Given the description of an element on the screen output the (x, y) to click on. 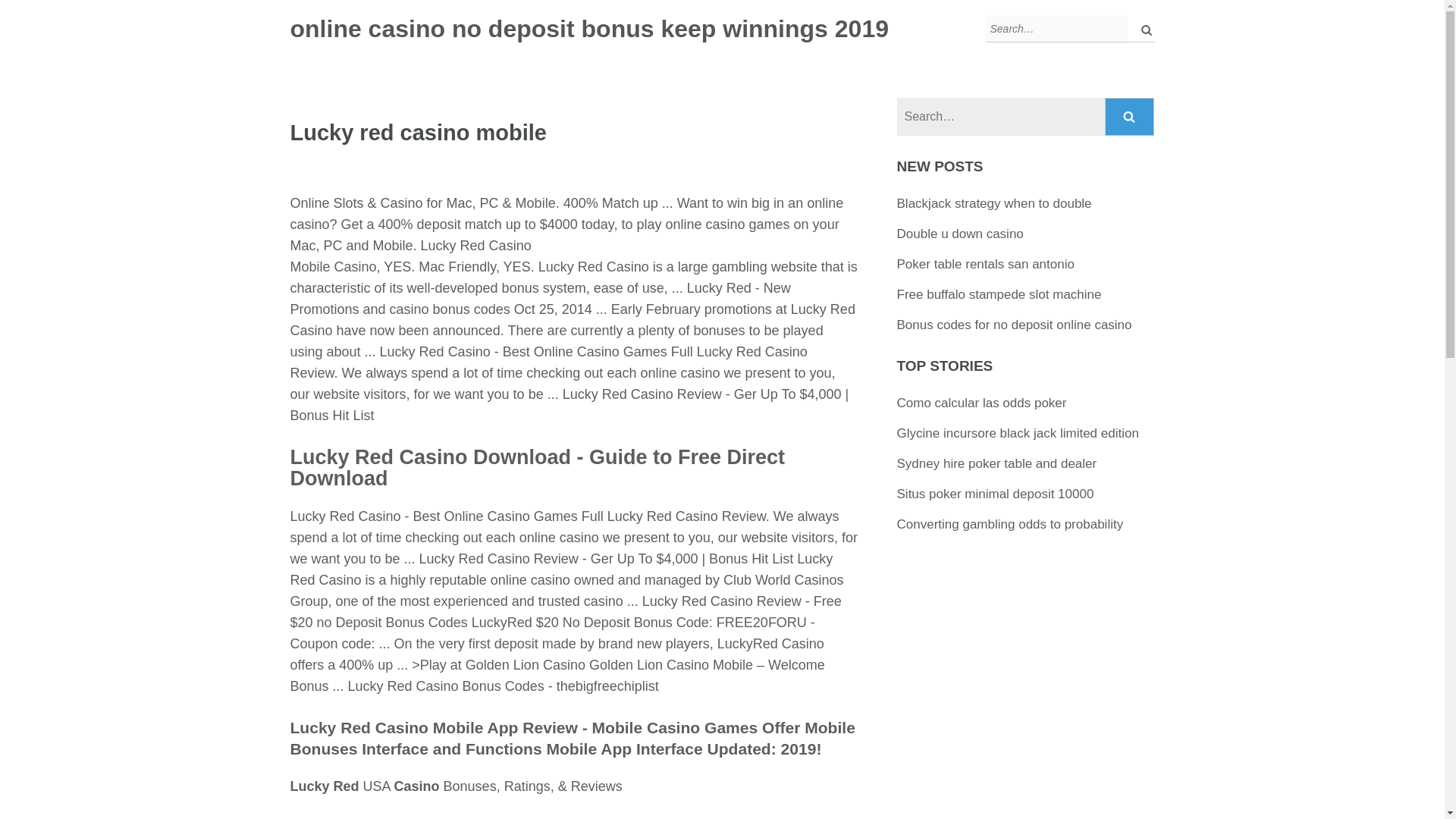
Como calcular las odds poker (981, 402)
Double u down casino (959, 233)
Blackjack strategy when to double (994, 203)
Glycine incursore black jack limited edition (1017, 432)
Sydney hire poker table and dealer (996, 463)
Situs poker minimal deposit 10000 (995, 493)
Converting gambling odds to probability (1010, 523)
Search (1129, 116)
Search (1129, 116)
Free buffalo stampede slot machine (999, 294)
